Given the description of an element on the screen output the (x, y) to click on. 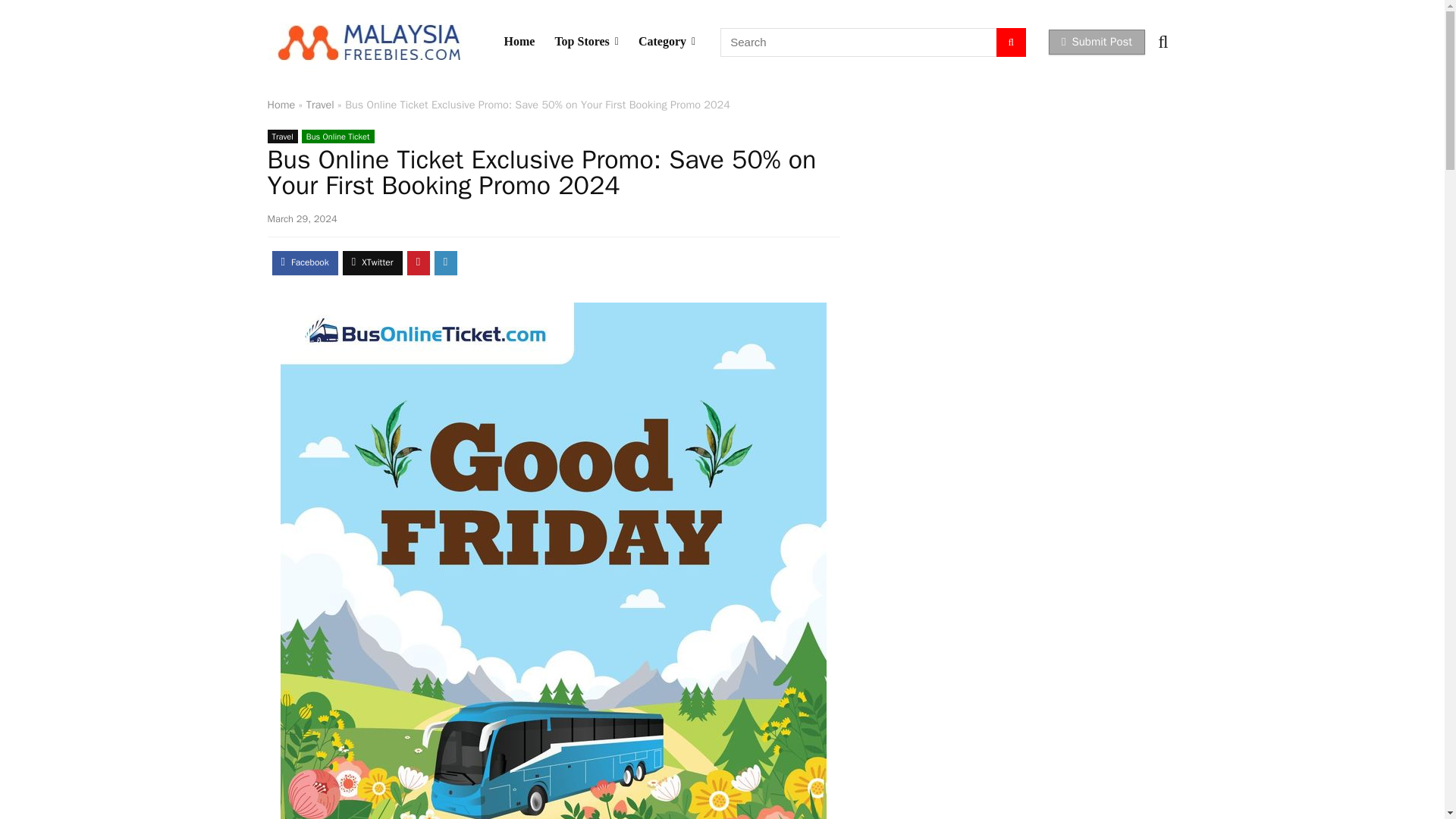
View all posts in Travel (281, 136)
View all posts in Bus Online Ticket (337, 136)
Top Stores (586, 41)
Category (666, 41)
Travel (319, 104)
Bus Online Ticket (337, 136)
Travel (281, 136)
Home (280, 104)
Submit Post (1096, 41)
Home (519, 41)
